Given the description of an element on the screen output the (x, y) to click on. 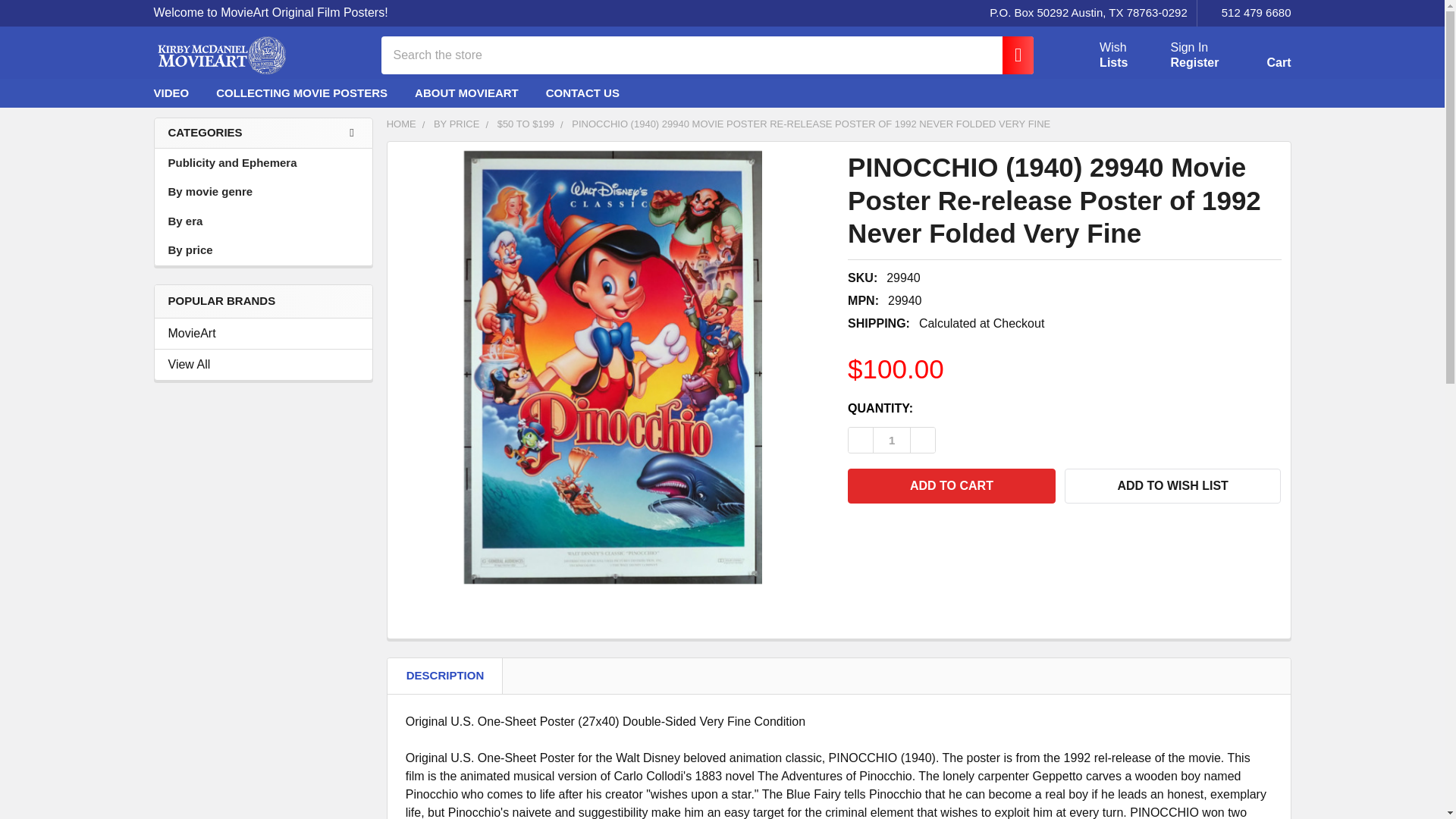
Kirby McDaniel MovieArt (218, 55)
MovieArt (263, 333)
Cart (1260, 58)
X (1181, 92)
Add to Cart (951, 485)
1 (891, 439)
Tumblr (1276, 92)
Cart (1260, 58)
Wish Lists (1095, 55)
Search (1095, 55)
Sign In (1010, 55)
Search (1189, 47)
Register (1010, 55)
512 479 6680 (1194, 62)
